Given the description of an element on the screen output the (x, y) to click on. 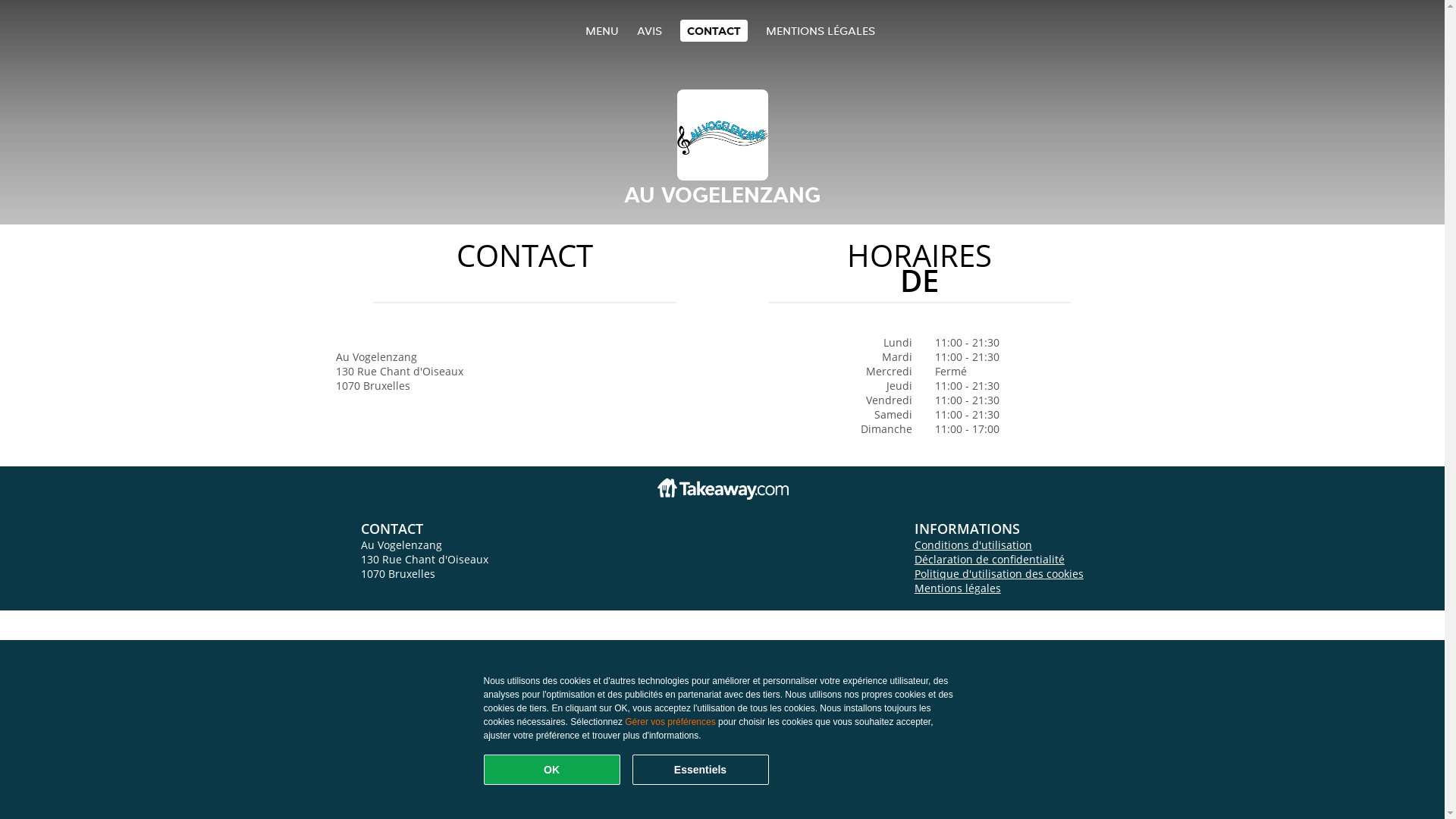
OK Element type: text (551, 769)
Essentiels Element type: text (700, 769)
AVIS Element type: text (649, 30)
MENU Element type: text (601, 30)
CONTACT Element type: text (712, 30)
Politique d'utilisation des cookies Element type: text (998, 573)
Conditions d'utilisation Element type: text (973, 544)
